Given the description of an element on the screen output the (x, y) to click on. 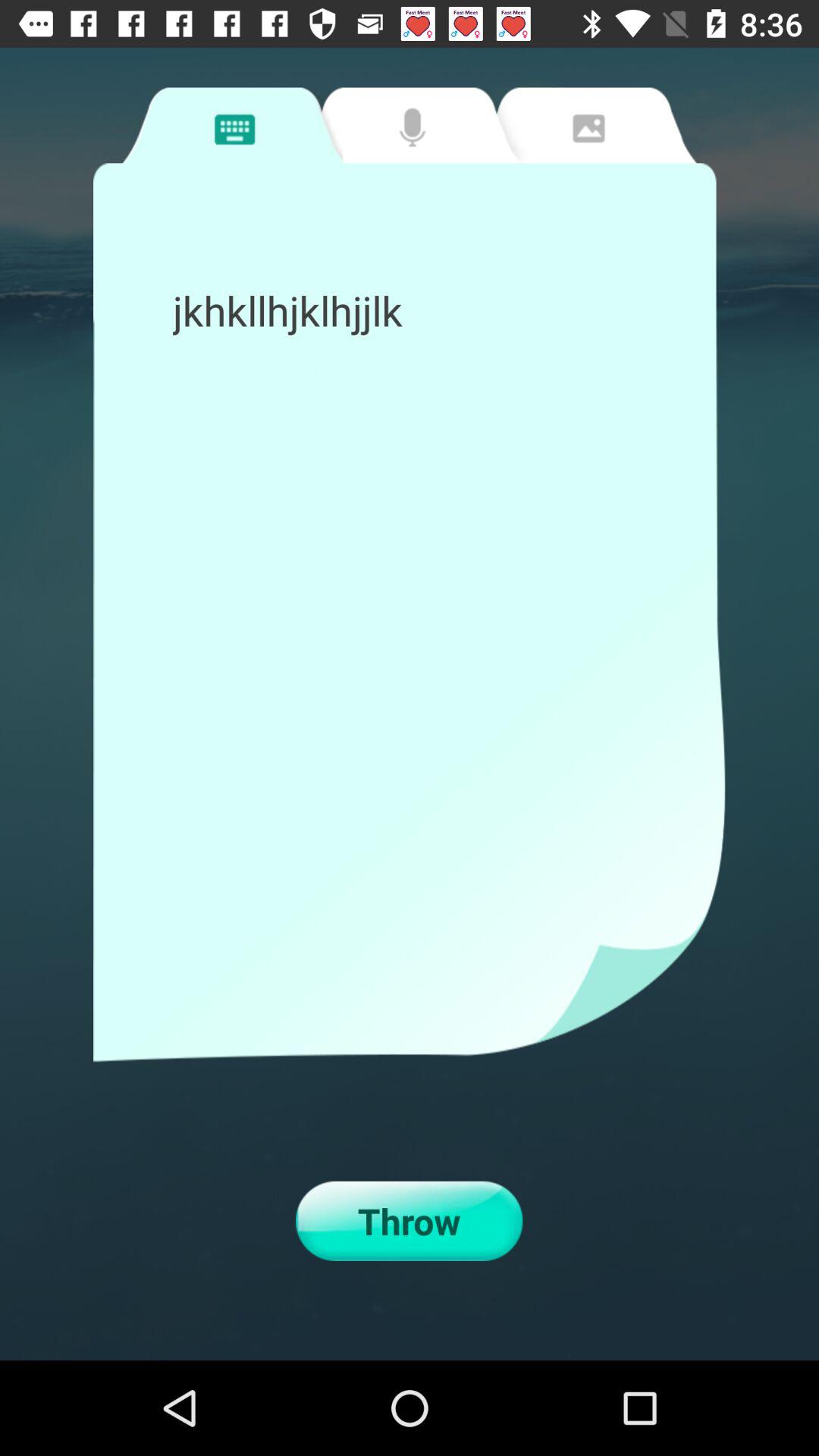
select recording tab (407, 125)
